Given the description of an element on the screen output the (x, y) to click on. 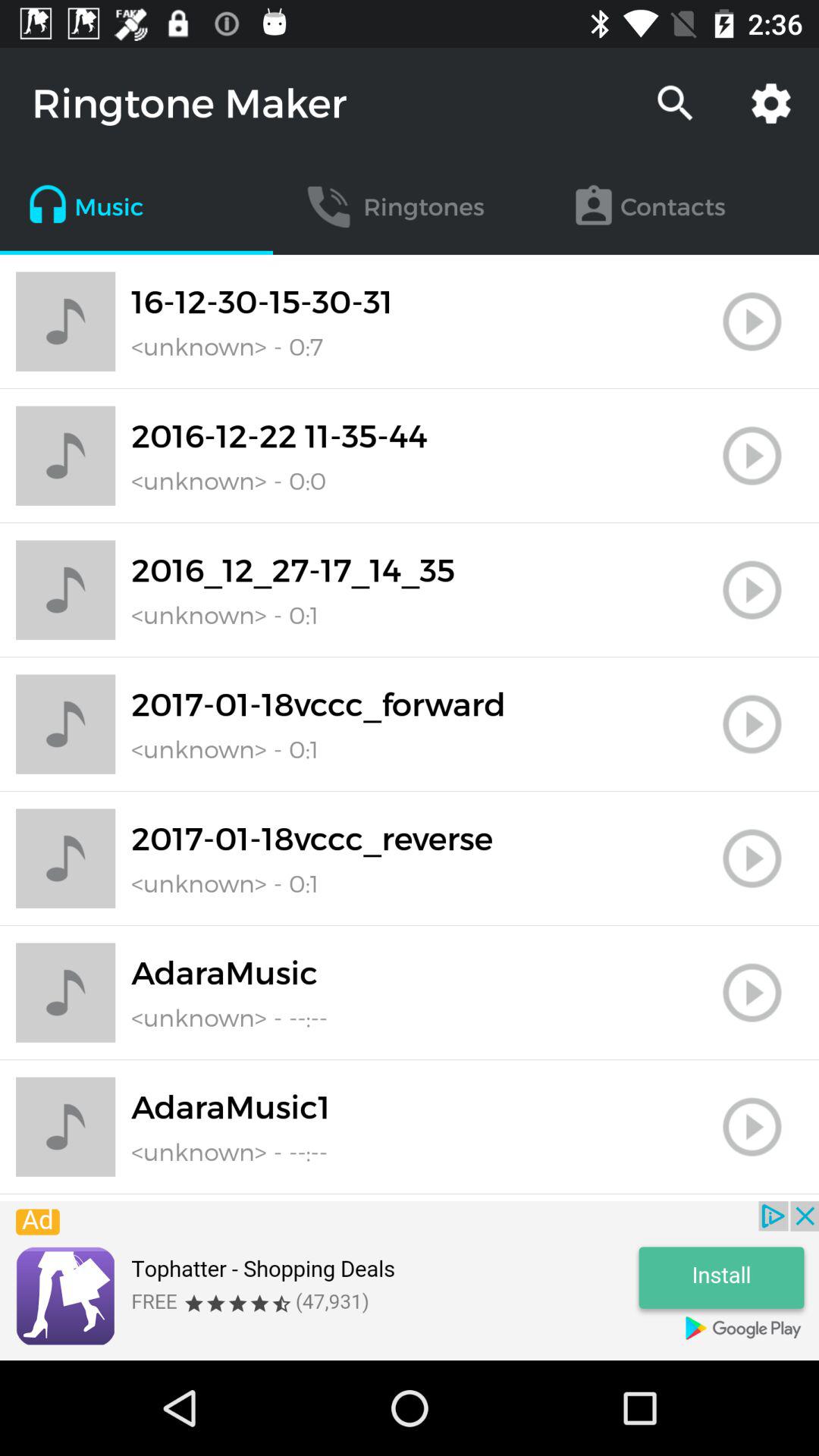
video play (752, 992)
